Given the description of an element on the screen output the (x, y) to click on. 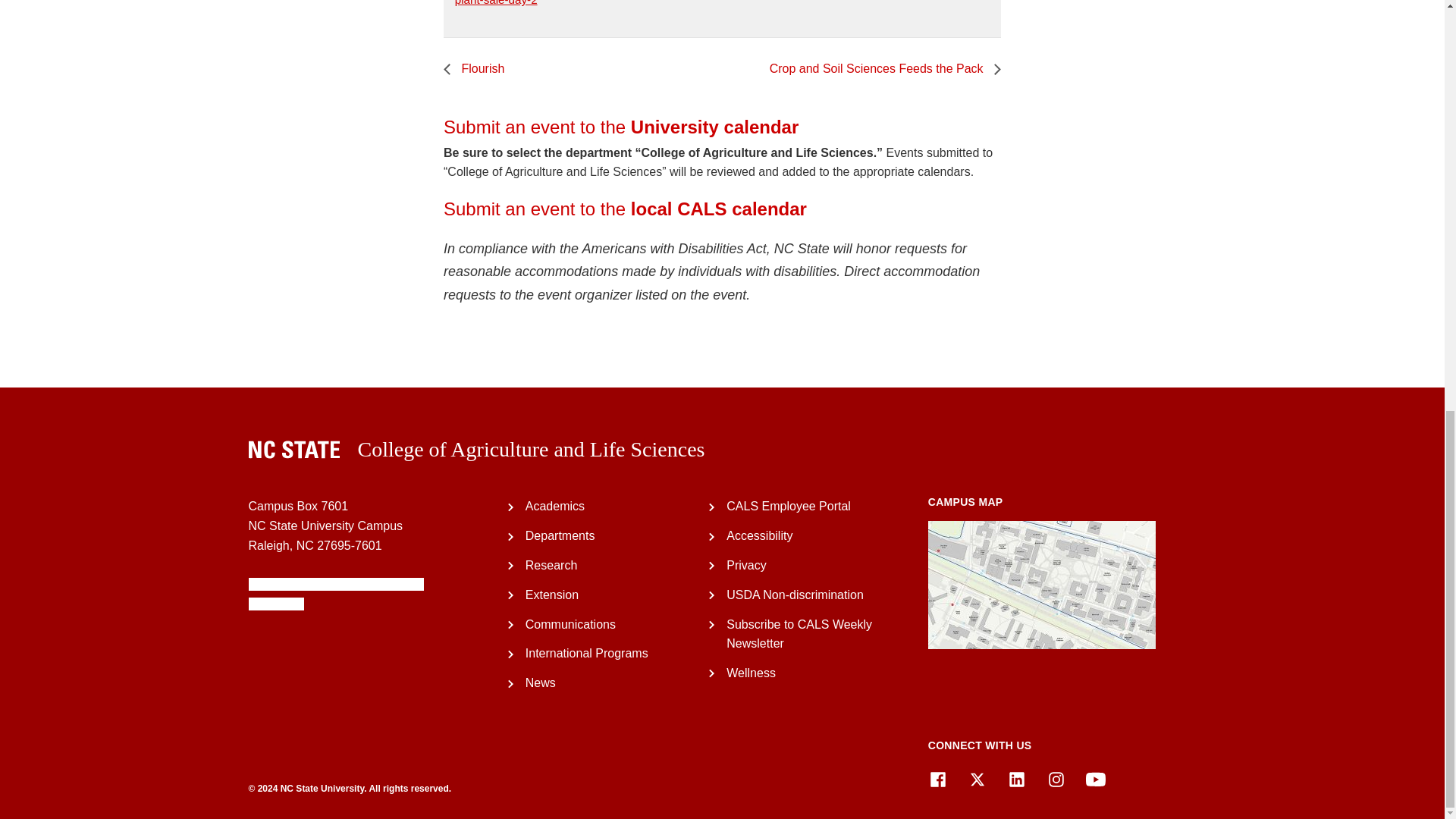
X (977, 779)
Facebook (937, 779)
YouTube (1095, 779)
Instagram (1055, 779)
LinkedIn (1016, 779)
